Given the description of an element on the screen output the (x, y) to click on. 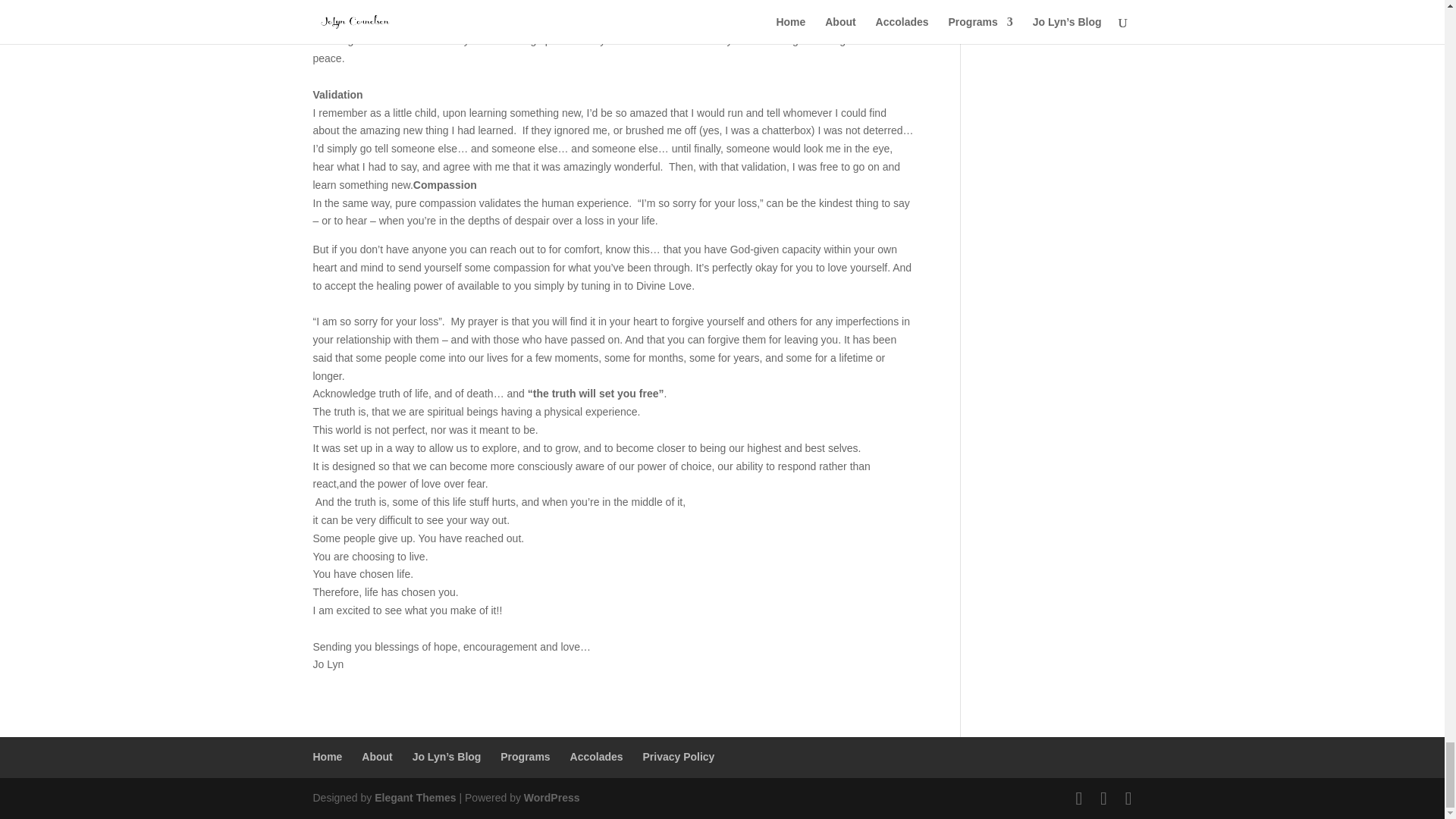
Premium WordPress Themes (414, 797)
